Given the description of an element on the screen output the (x, y) to click on. 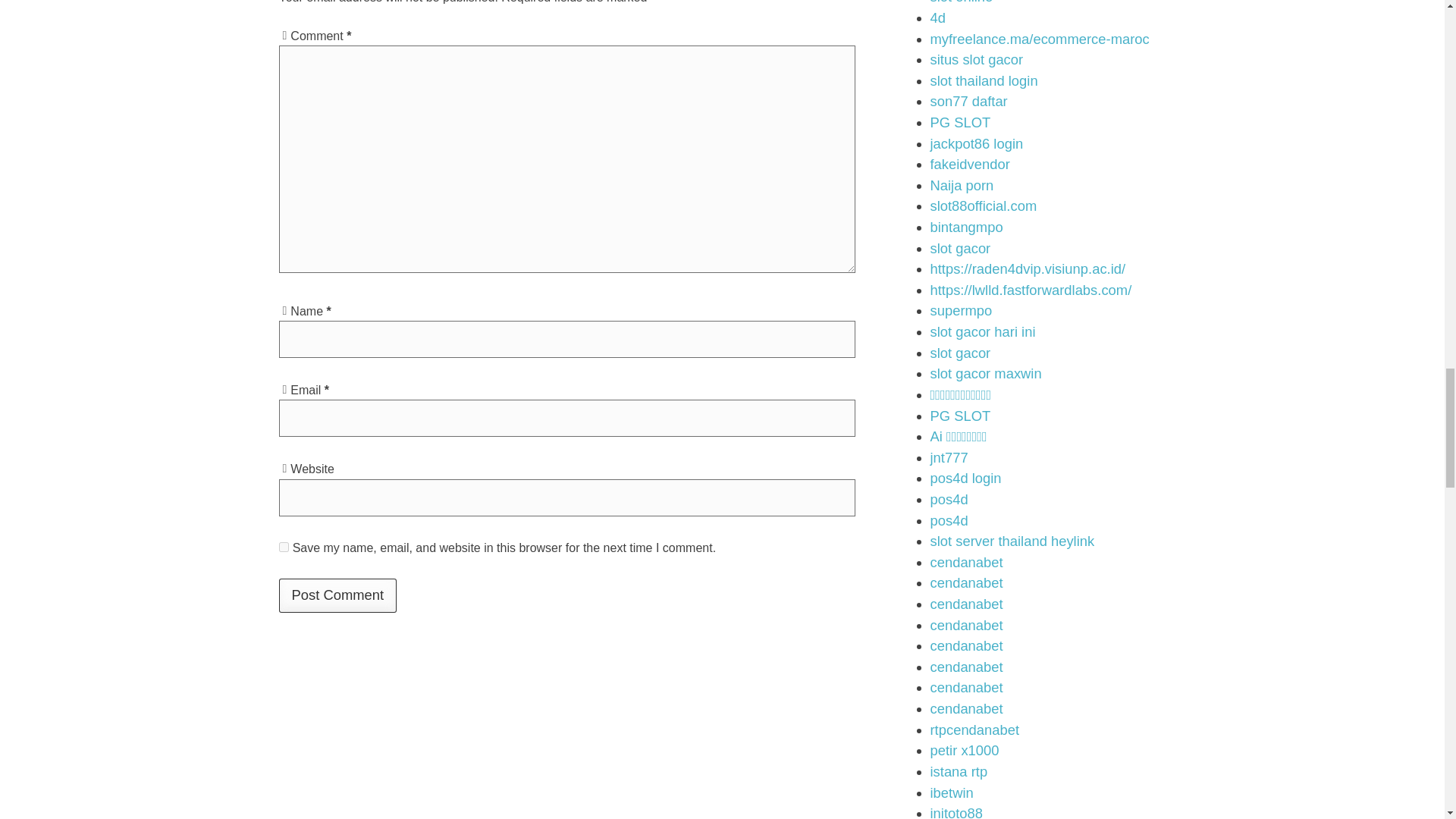
Post Comment (338, 594)
yes (283, 547)
Post Comment (338, 594)
